Given the description of an element on the screen output the (x, y) to click on. 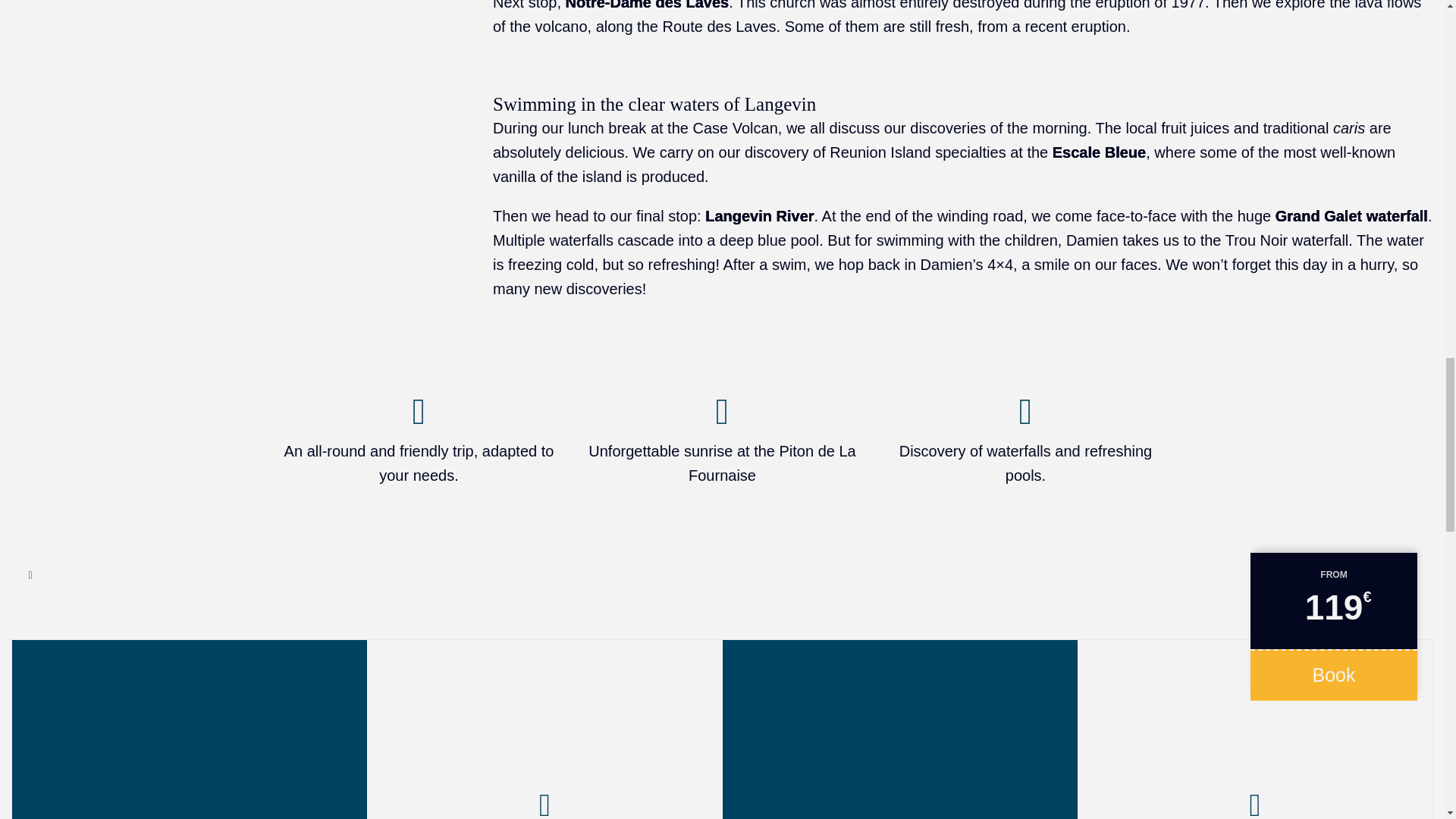
Pikpik Tours (544, 729)
Advice (544, 729)
Book (1333, 675)
Pikpik Tours (899, 729)
Our suggestions (1254, 729)
Pikpik Tours (188, 729)
